Given the description of an element on the screen output the (x, y) to click on. 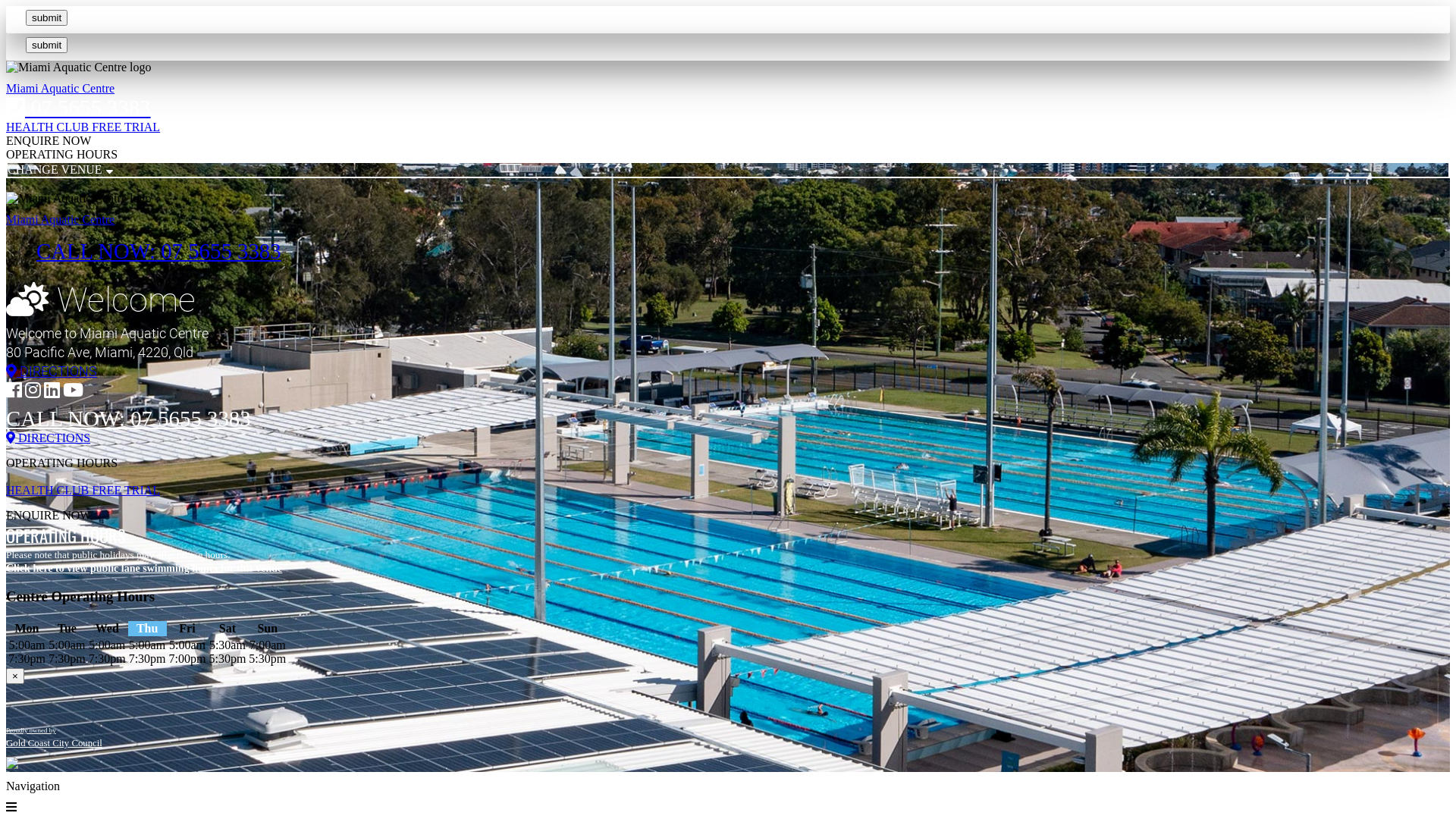
HEALTH CLUB FREE TRIAL Element type: text (83, 489)
HEALTH CLUB FREE TRIAL Element type: text (83, 126)
Proudly owned by
Gold Coast City Council Element type: text (54, 736)
submit Element type: text (46, 17)
DIRECTIONS Element type: text (727, 370)
submit Element type: text (46, 45)
Click here to view public lane swimming hours for this venue Element type: text (144, 568)
DIRECTIONS Element type: text (727, 438)
07 5655 3383 Element type: text (78, 107)
CALL NOW: 07 5655 3383 Element type: text (128, 418)
CALL NOW: 07 5655 3383 Element type: text (158, 250)
Miami Aquatic Centre Element type: text (60, 87)
Miami Aquatic Centre Element type: text (60, 219)
